Given the description of an element on the screen output the (x, y) to click on. 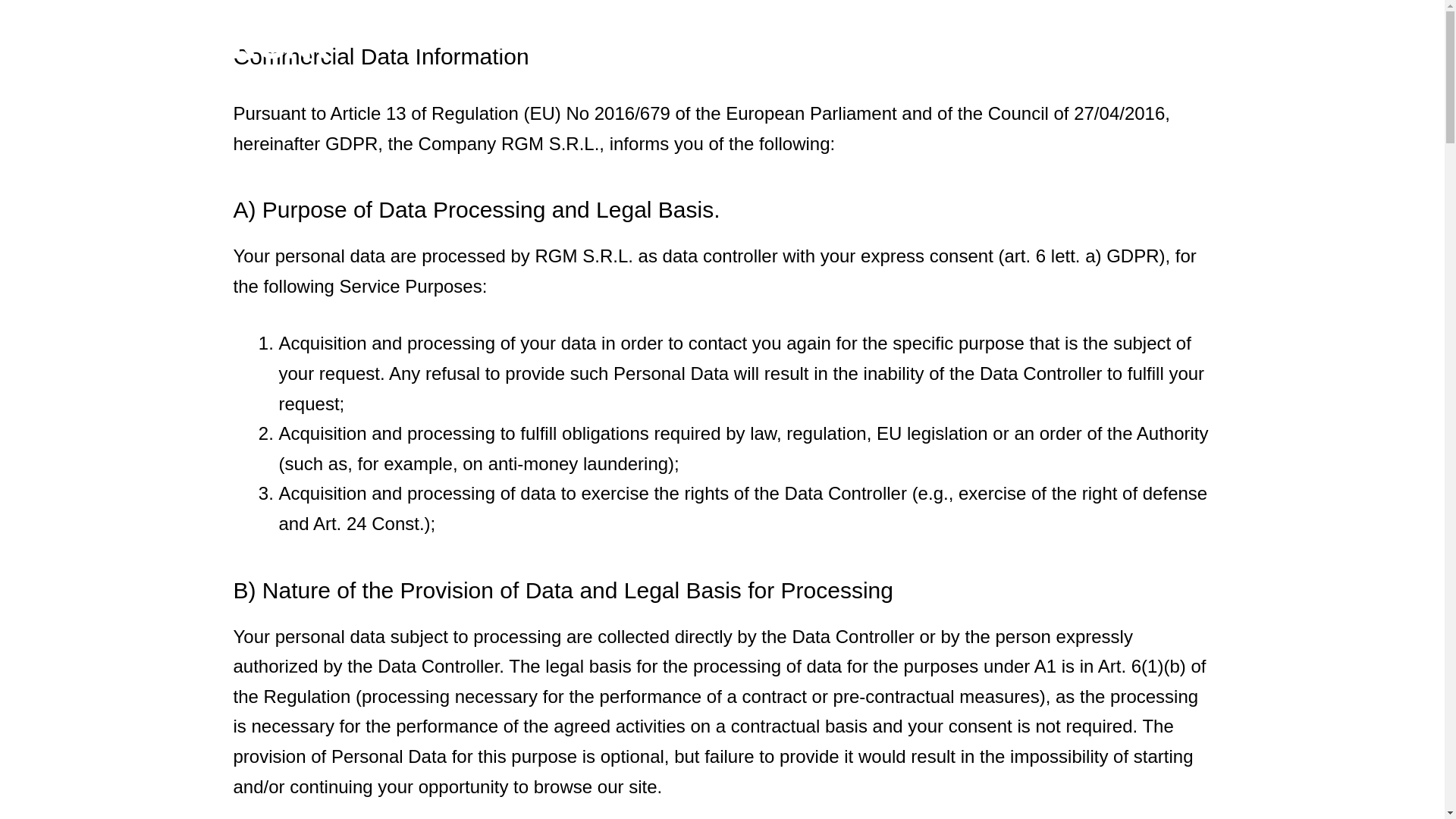
IT (1175, 15)
COMPANY (1129, 15)
BIOCLIMATIC PERGOLAS (576, 48)
Skip to content (15, 7)
Commercial Data Information (721, 56)
